Given the description of an element on the screen output the (x, y) to click on. 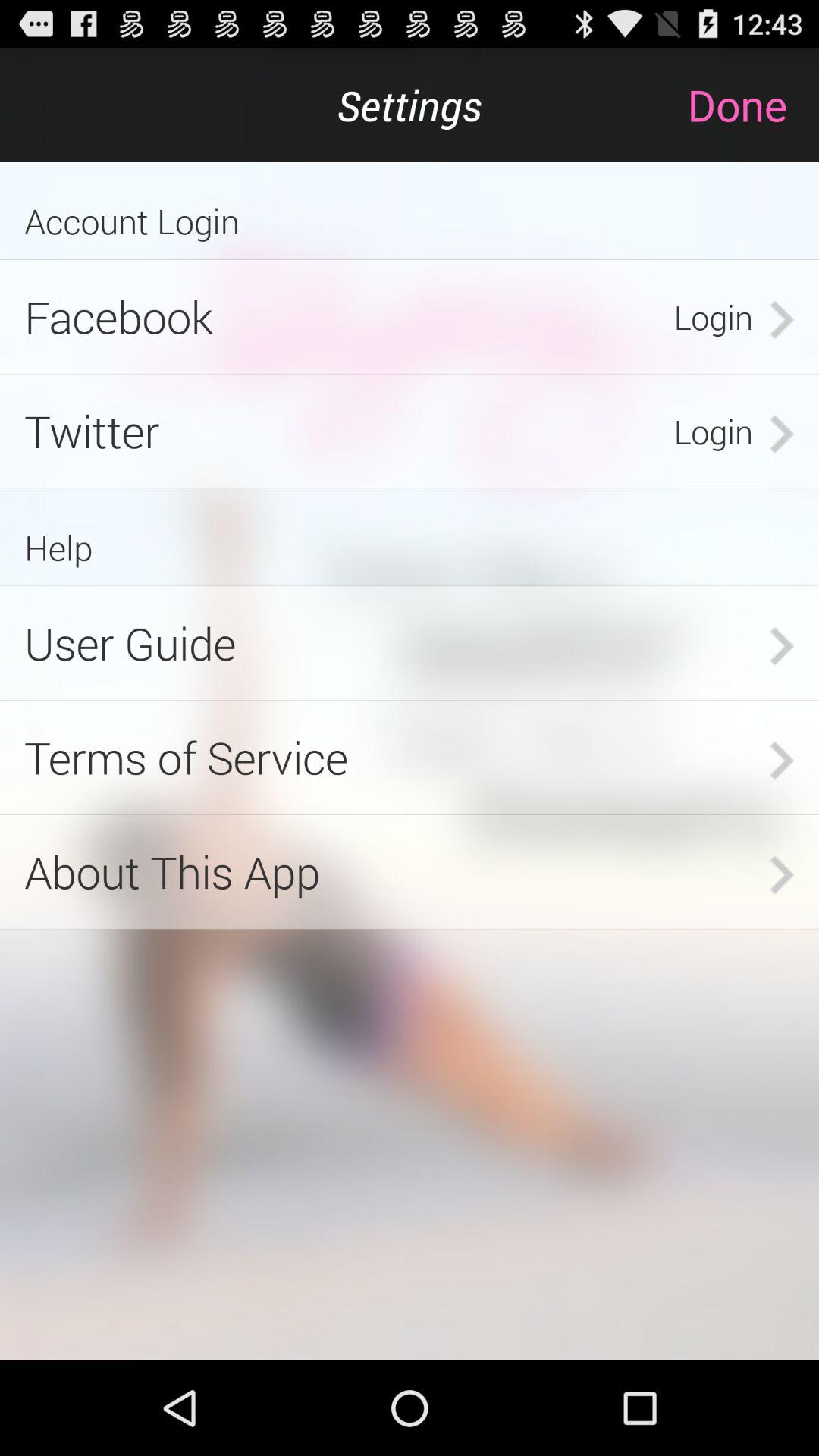
choose the item above account login item (752, 104)
